Given the description of an element on the screen output the (x, y) to click on. 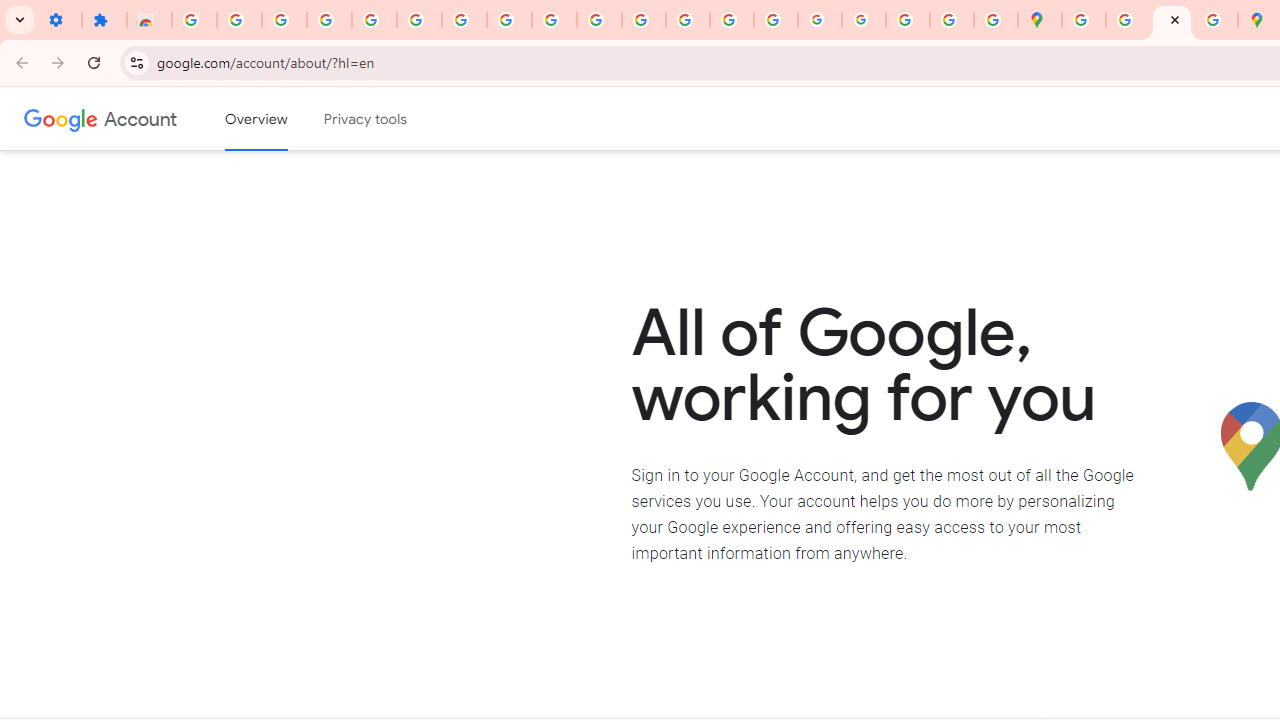
Google Account overview (256, 119)
YouTube (554, 20)
Extensions (103, 20)
Google Account (140, 118)
